Given the description of an element on the screen output the (x, y) to click on. 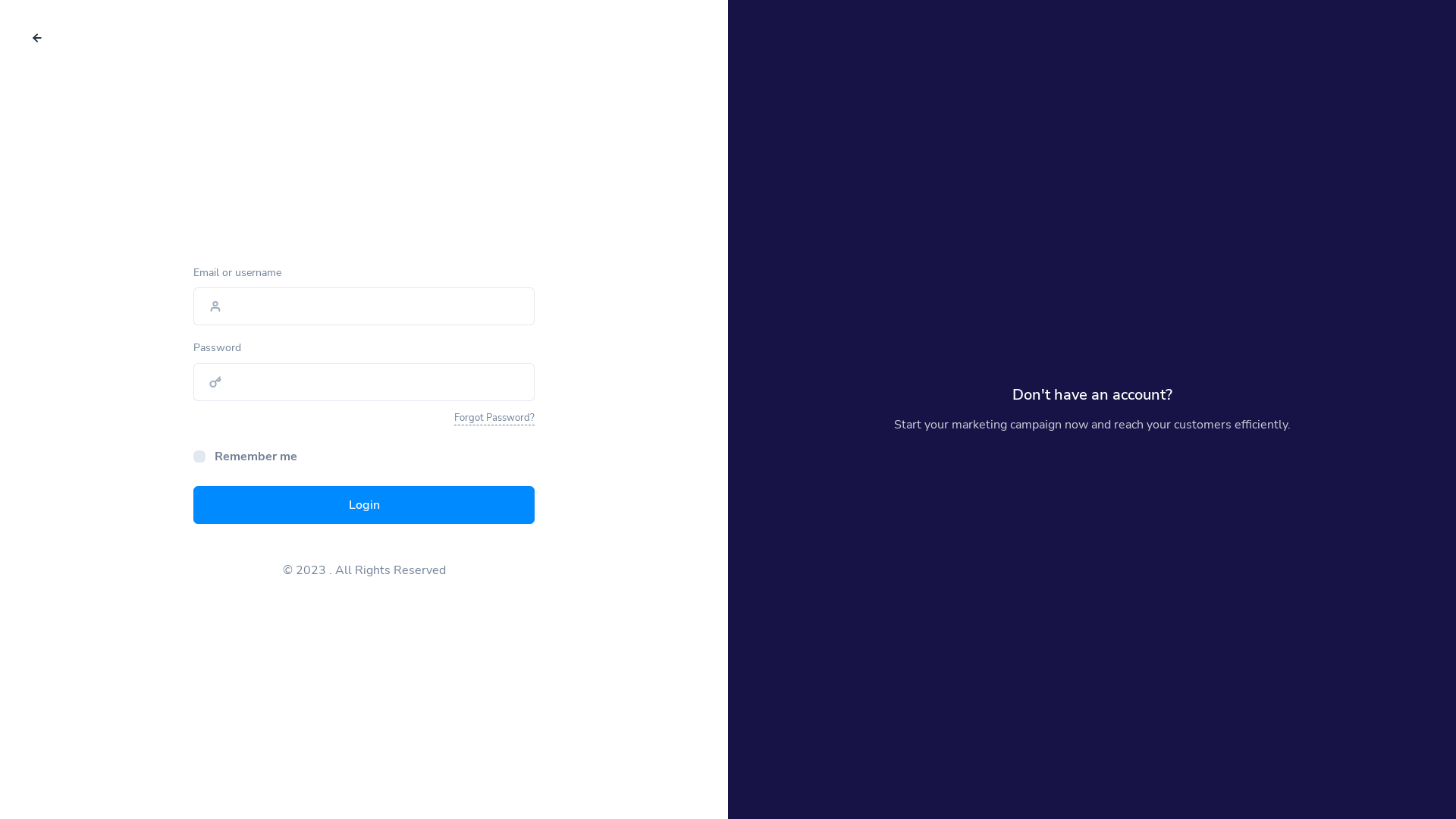
Login Element type: text (363, 505)
Forgot Password? Element type: text (494, 418)
